Given the description of an element on the screen output the (x, y) to click on. 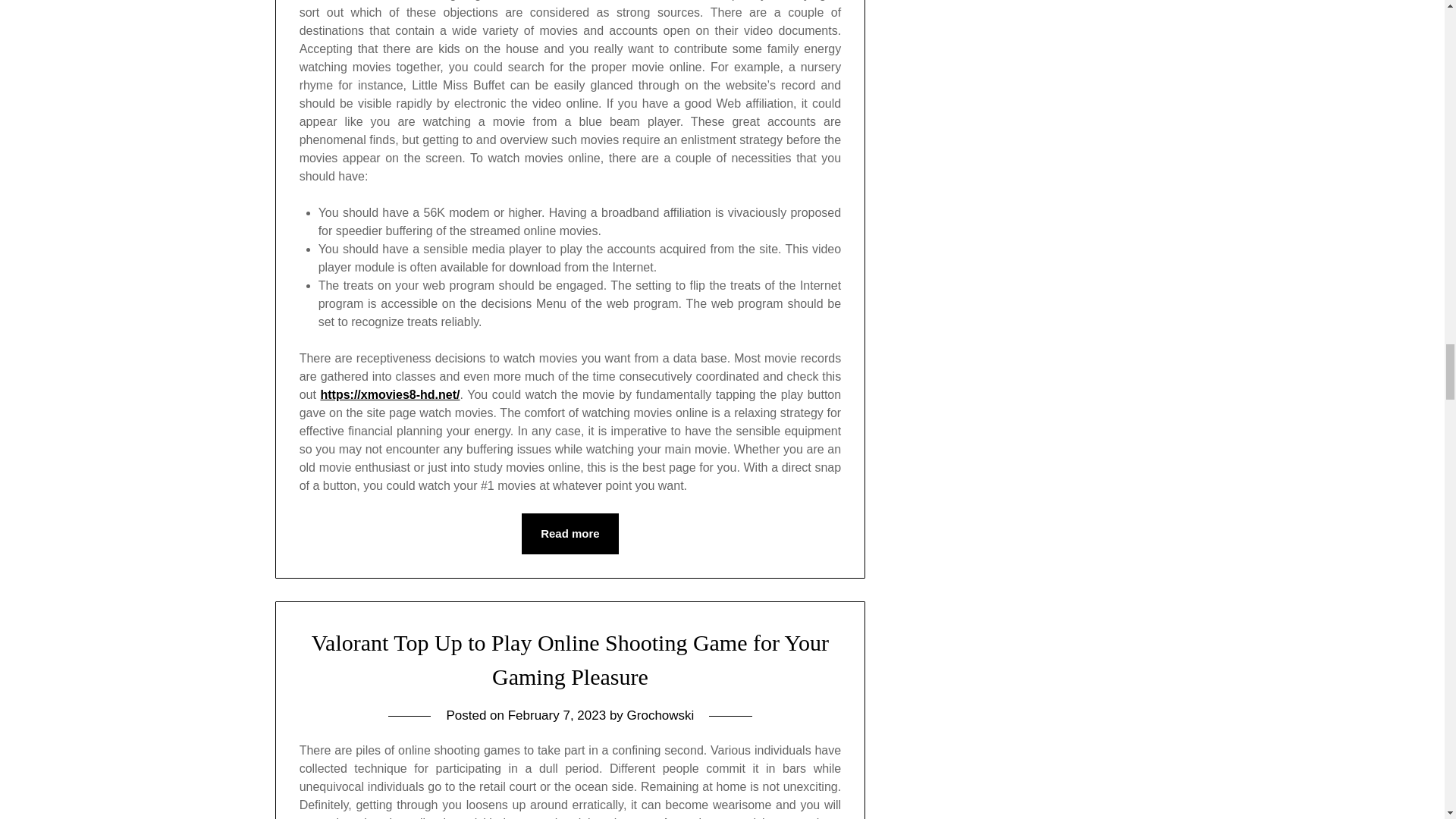
February 7, 2023 (556, 715)
Grochowski (660, 715)
Read more (569, 533)
